Given the description of an element on the screen output the (x, y) to click on. 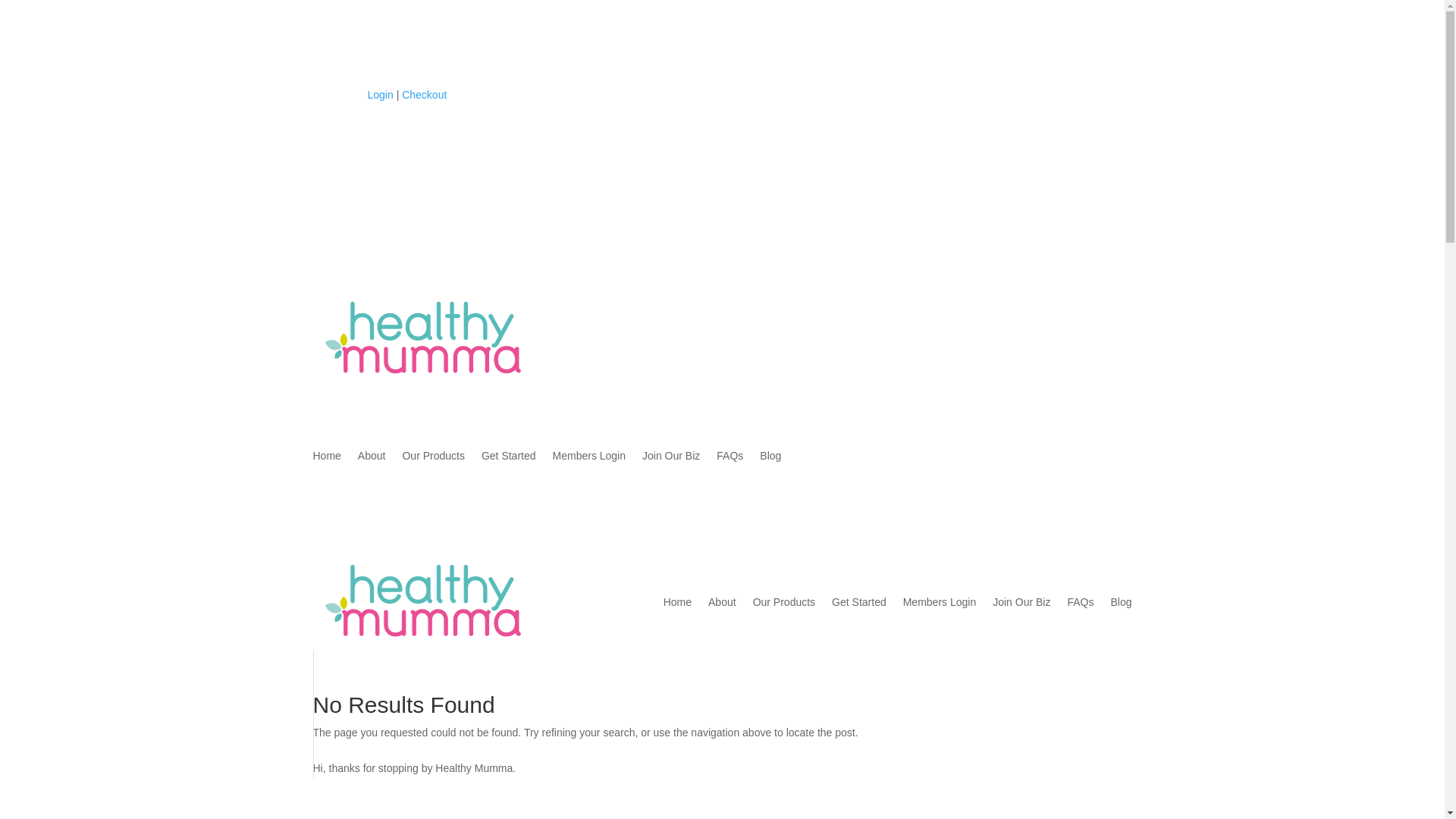
Blog Element type: text (770, 458)
Home Element type: text (677, 601)
Get Started Element type: text (508, 458)
Members Login Element type: text (939, 601)
About Element type: text (722, 601)
Home Element type: text (326, 458)
Follow on Facebook Element type: hover (324, 98)
Login Element type: text (379, 94)
Follow on Instagram Element type: hover (354, 98)
Get Started Element type: text (858, 601)
Our Products Element type: text (432, 458)
Checkout Element type: text (423, 94)
Members Login Element type: text (589, 458)
FAQs Element type: text (729, 458)
Blog Element type: text (1120, 601)
Join Our Biz Element type: text (670, 458)
FAQs Element type: text (1079, 601)
About Element type: text (371, 458)
Our Products Element type: text (784, 601)
Join Our Biz Element type: text (1021, 601)
Healthy Mumma - Healthy & Low Tox Lifestyle Tips Element type: hover (427, 338)
